Given the description of an element on the screen output the (x, y) to click on. 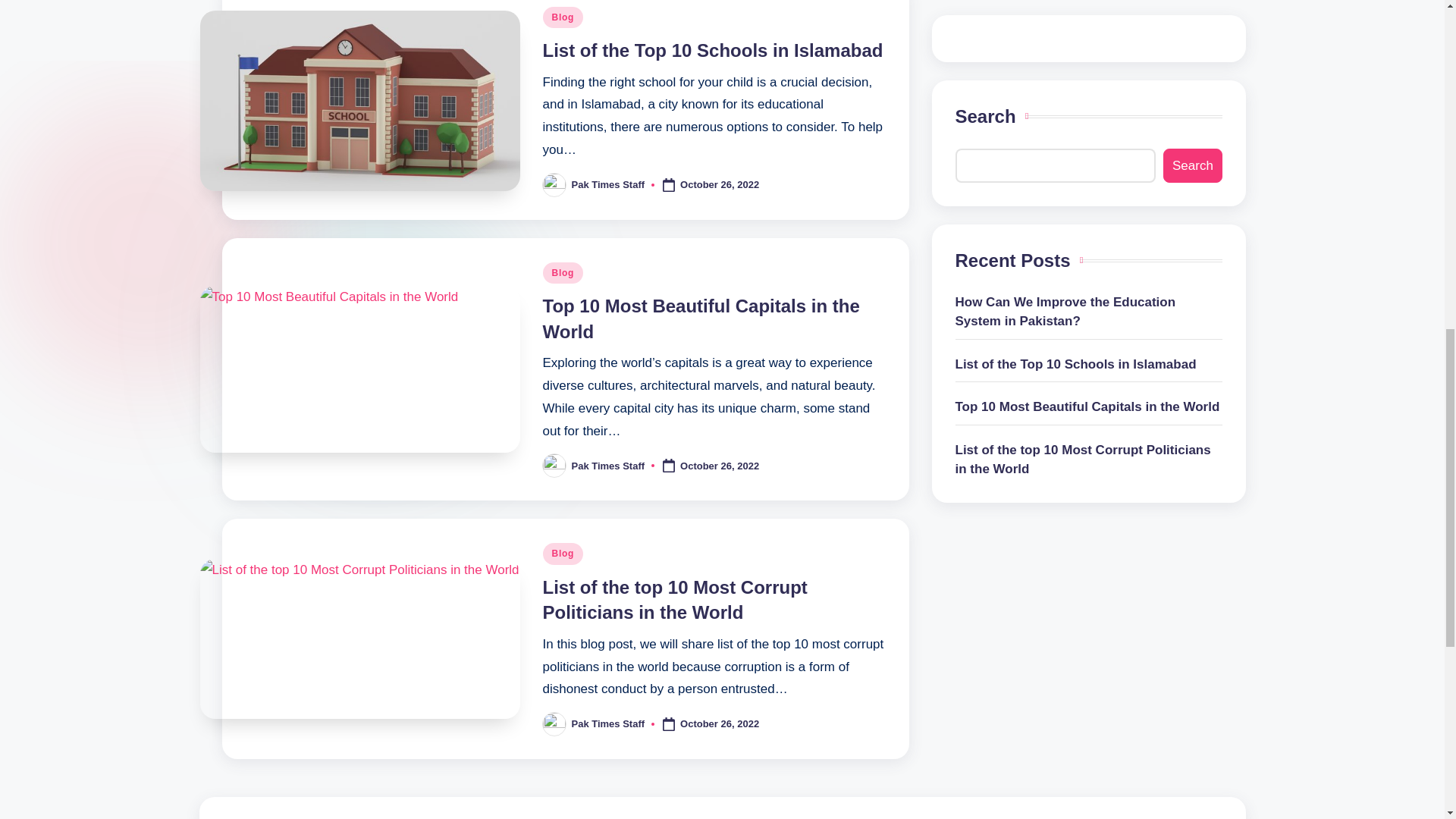
View all posts by Pak Times Staff (608, 184)
Pak Times Staff (608, 184)
List of the Top 10 Schools in Islamabad (713, 50)
Top 10 Most Beautiful Capitals in the World (701, 318)
List of the Top 10 Schools in Islamabad (713, 50)
Blog (563, 16)
List of the top 10 Most Corrupt Politicians in the World (675, 600)
View all posts by Pak Times Staff (608, 723)
View all posts by Pak Times Staff (608, 464)
